Given the description of an element on the screen output the (x, y) to click on. 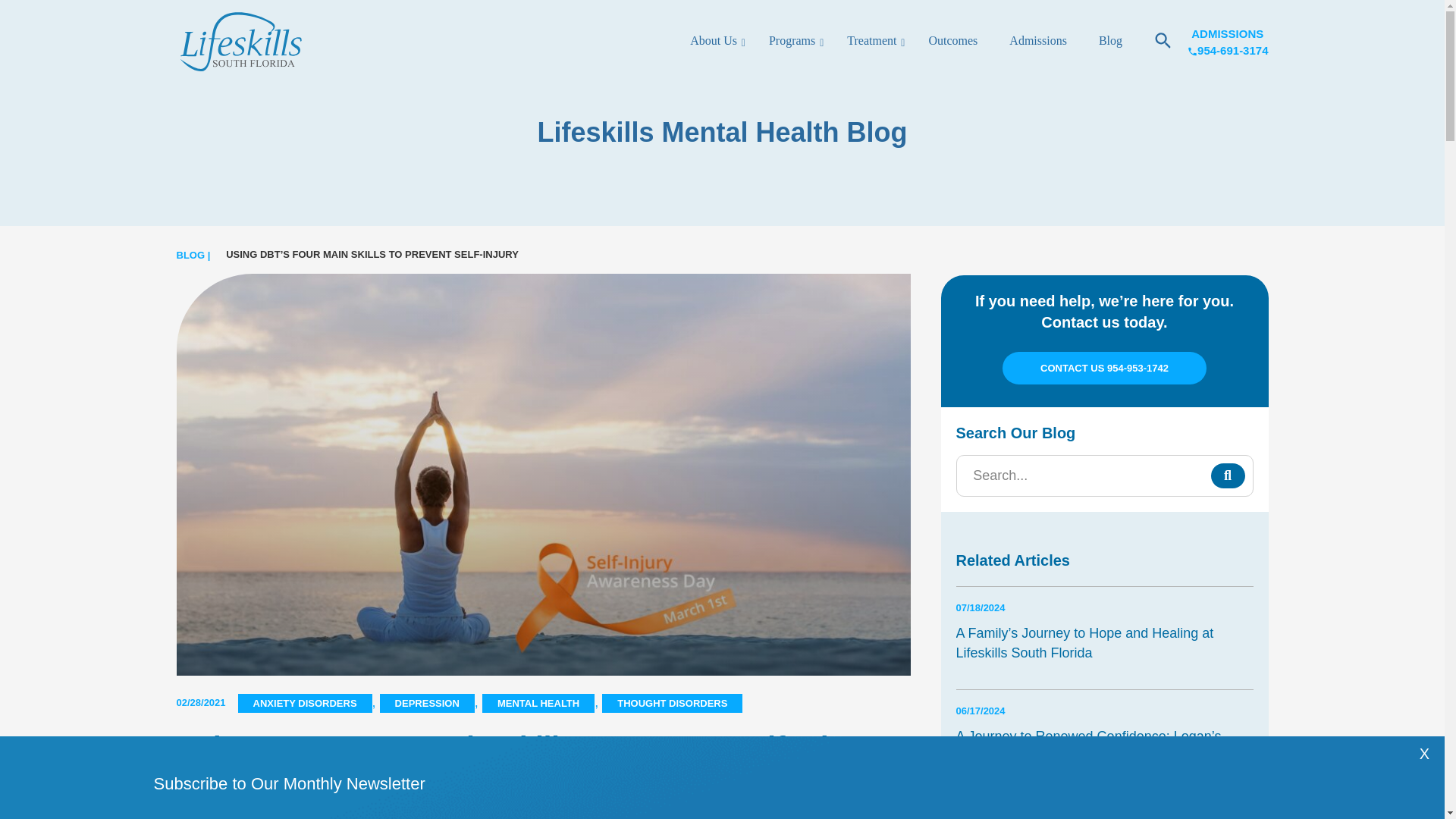
About Us (710, 42)
Treatment (871, 42)
Programs (792, 42)
